Given the description of an element on the screen output the (x, y) to click on. 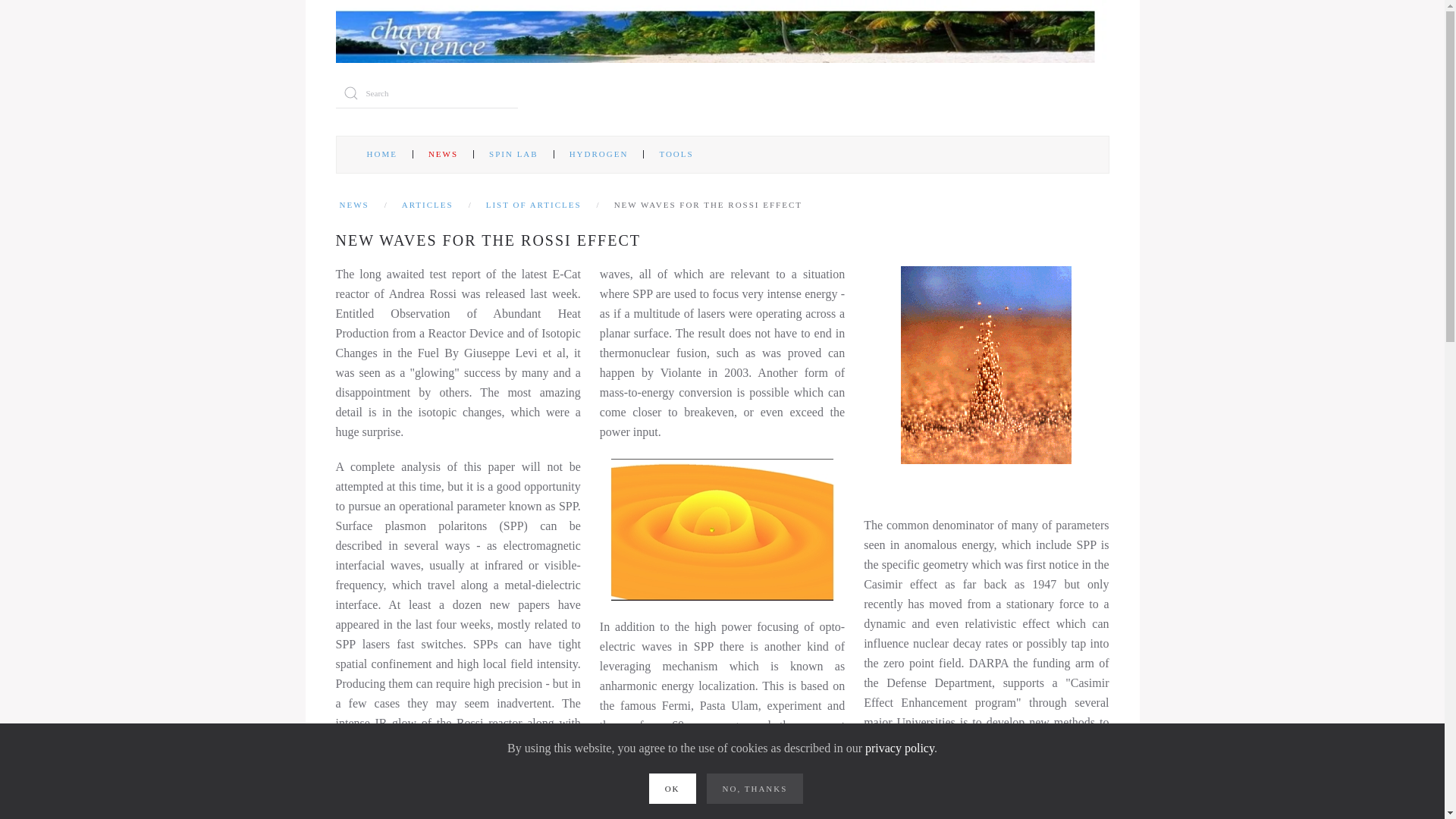
NEWS (443, 154)
SPIN LAB (513, 154)
HOME (381, 154)
HYDROGEN (598, 154)
TOOLS (676, 154)
